Given the description of an element on the screen output the (x, y) to click on. 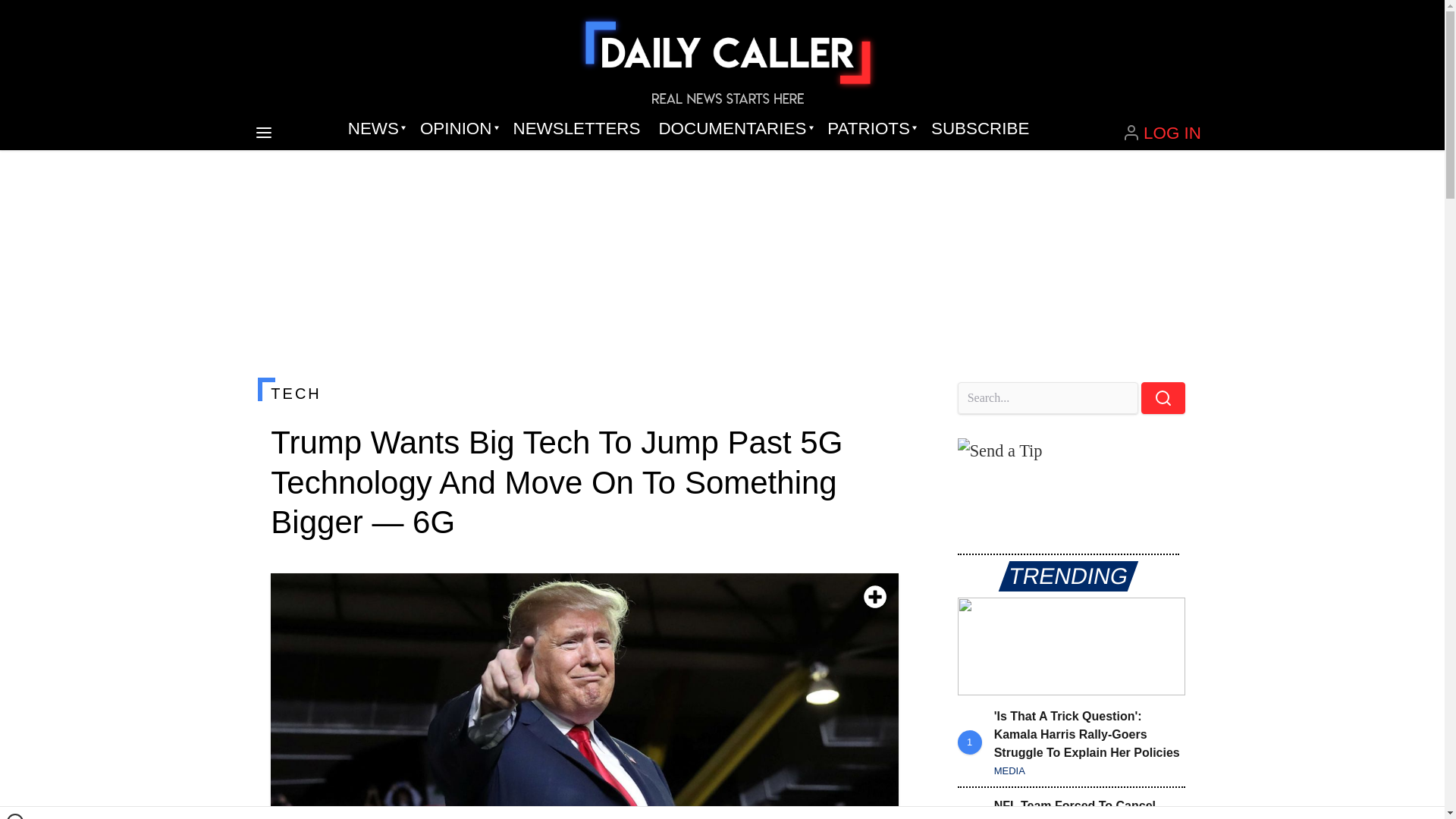
Close window (14, 816)
NEWSLETTERS (576, 128)
NEWS (374, 128)
TECH (584, 393)
OPINION (456, 128)
PATRIOTS (869, 128)
DOCUMENTARIES (733, 128)
Toggle fullscreen (874, 596)
